Given the description of an element on the screen output the (x, y) to click on. 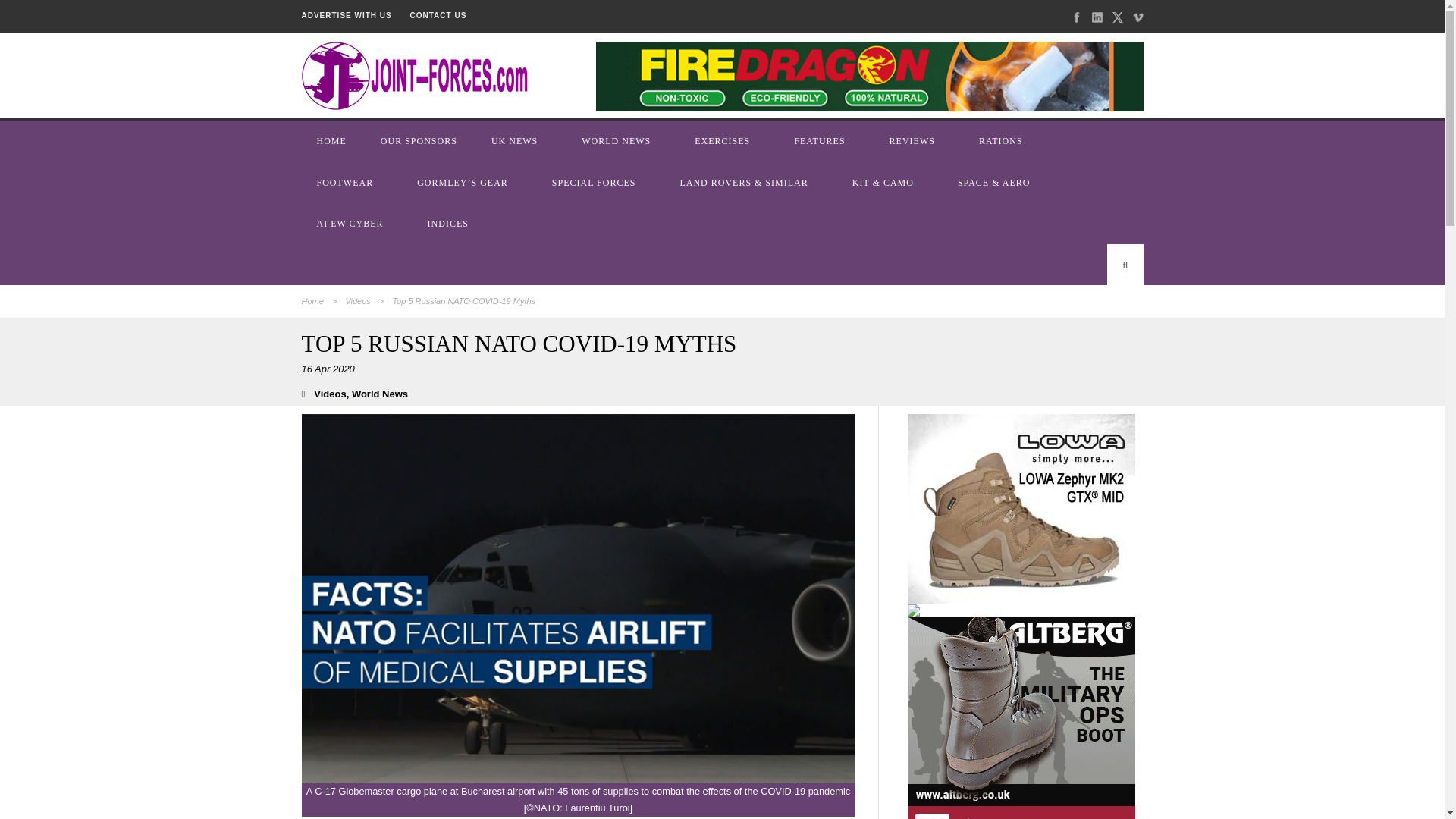
ADVERTISE WITH US (346, 15)
CONTACT US (438, 15)
HOME (333, 140)
